Given the description of an element on the screen output the (x, y) to click on. 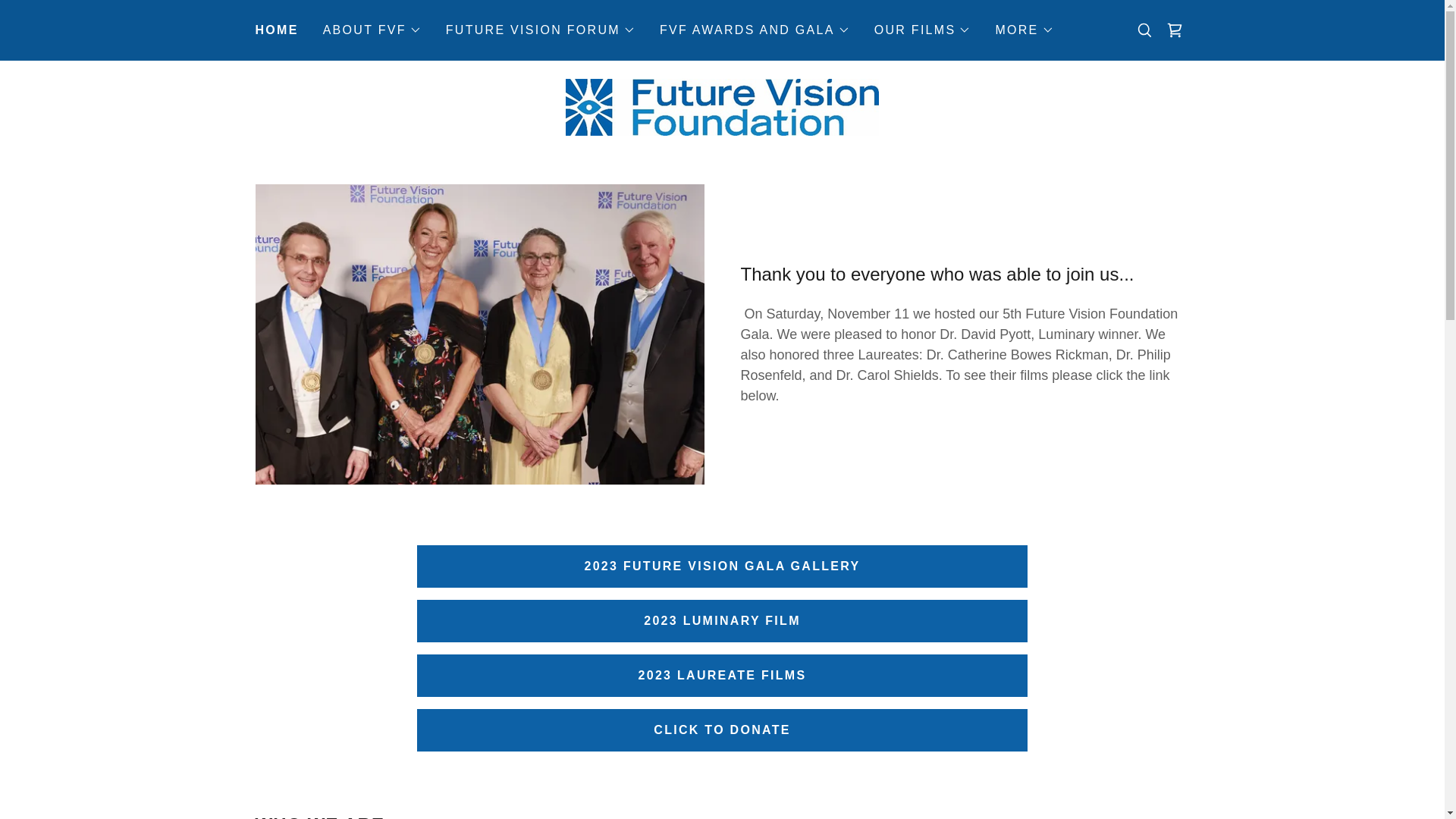
MORE (1023, 30)
HOME (276, 30)
ABOUT FVF (372, 30)
FUTURE VISION FORUM (539, 30)
FVF AWARDS AND GALA (754, 30)
OUR FILMS (923, 30)
